Given the description of an element on the screen output the (x, y) to click on. 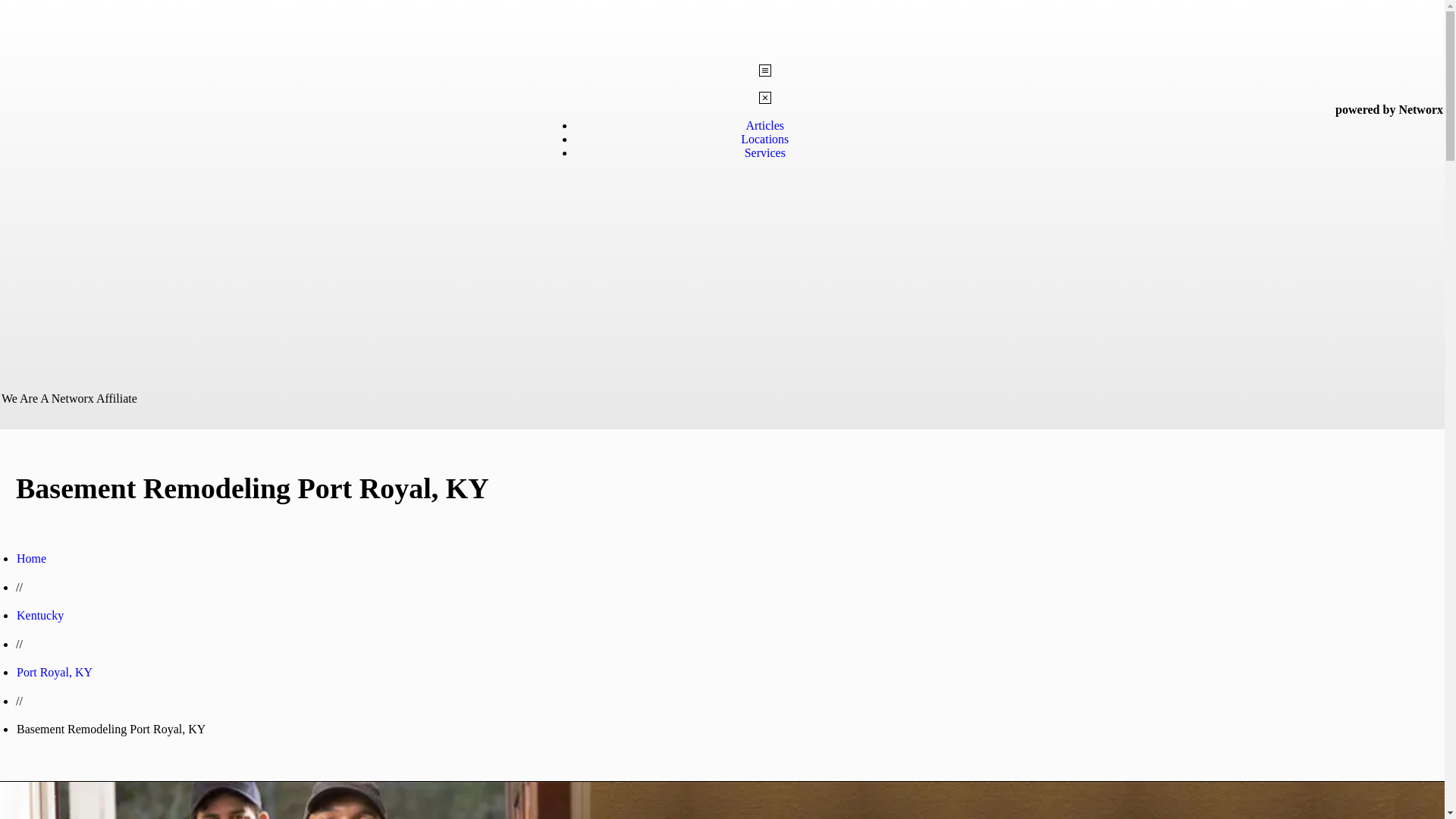
Services (765, 152)
Kentucky (40, 615)
Locations (765, 138)
Port Royal, KY (54, 671)
Articles (764, 124)
Home (31, 558)
